Given the description of an element on the screen output the (x, y) to click on. 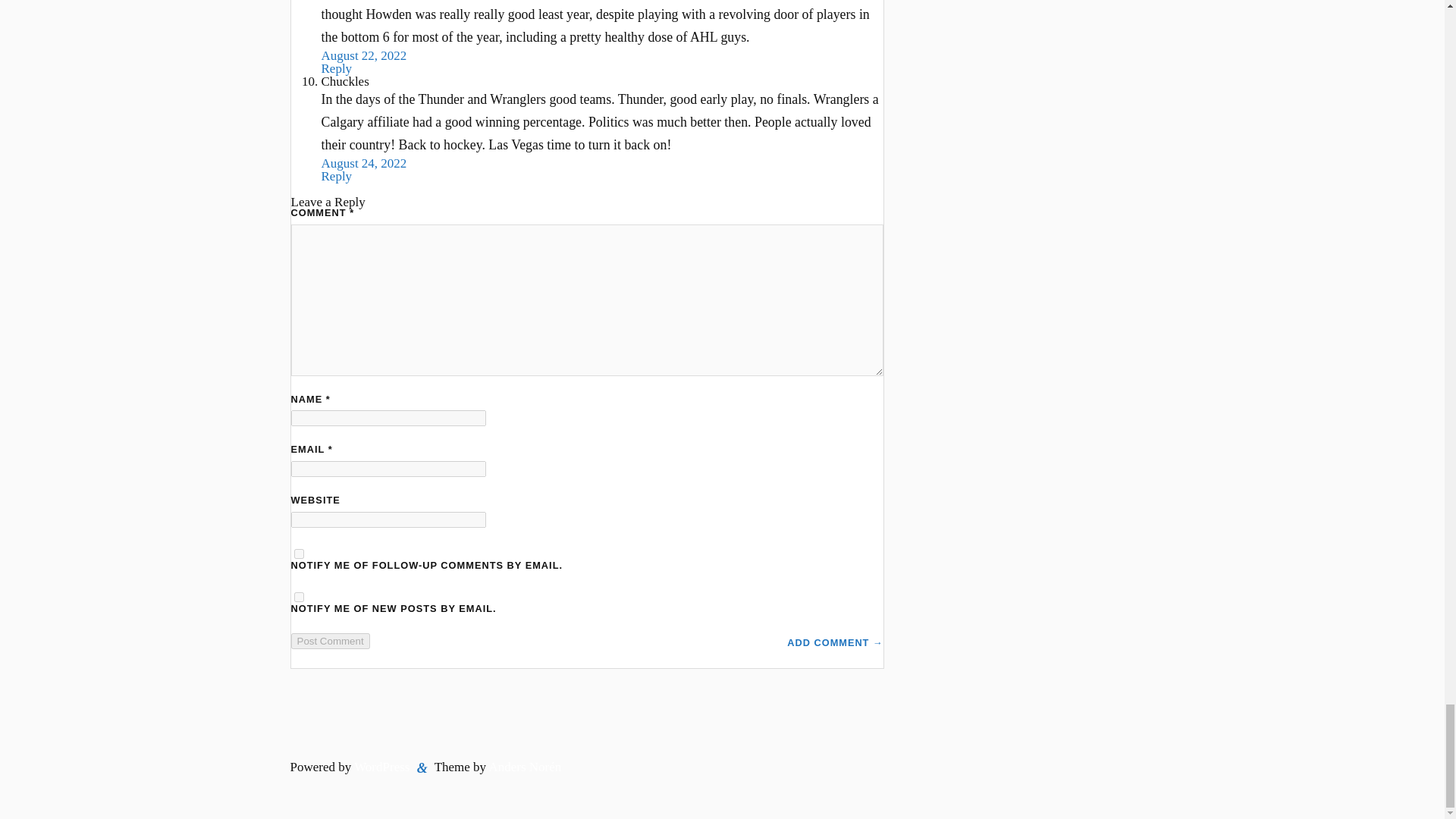
Post Comment (330, 641)
subscribe (299, 553)
subscribe (299, 596)
